Given the description of an element on the screen output the (x, y) to click on. 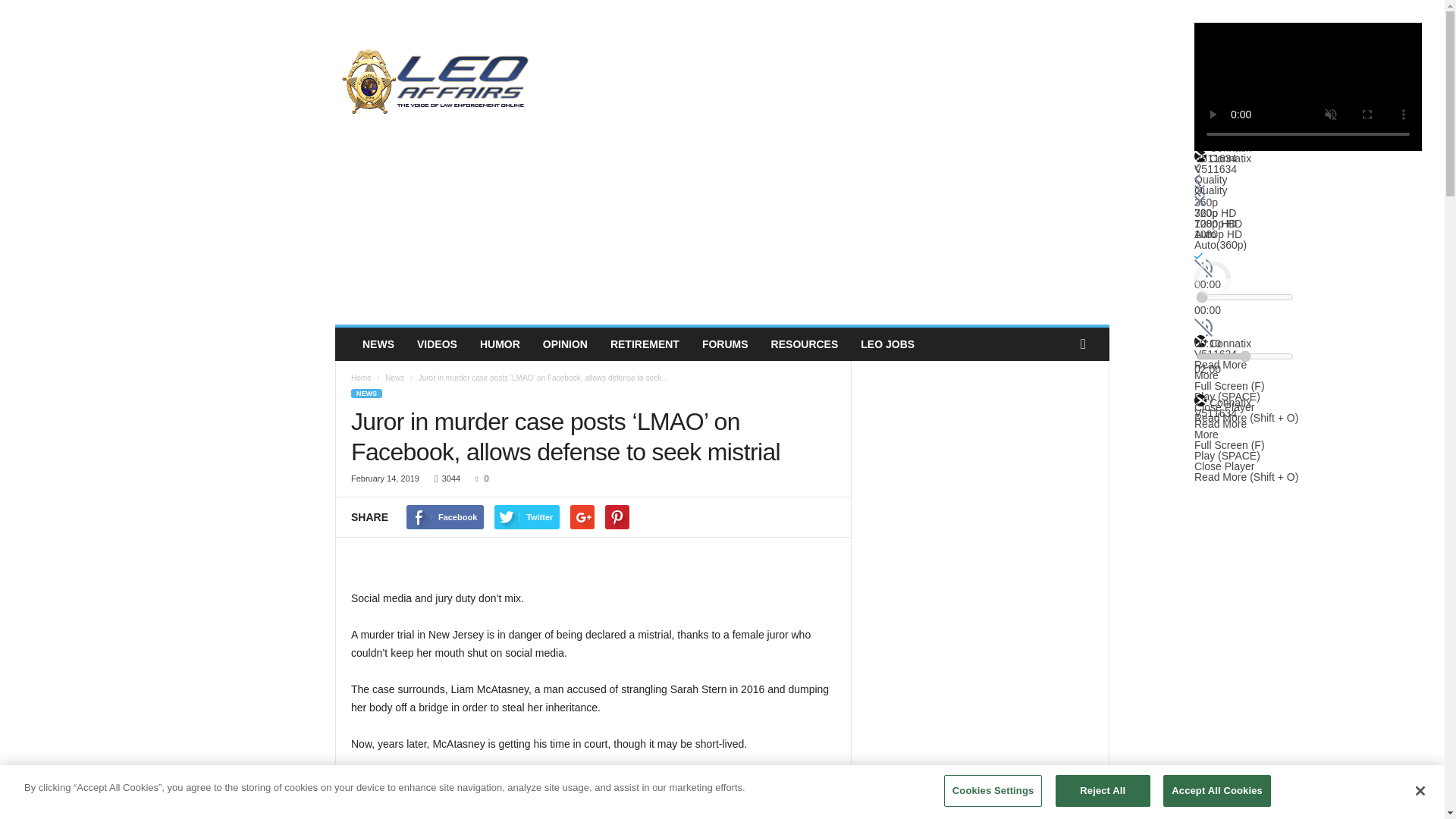
NEWS (378, 344)
FORUMS (725, 344)
RETIREMENT (644, 344)
HUMOR (499, 344)
RESOURCES (805, 344)
OPINION (564, 344)
View all posts in News (394, 377)
LeoAffairs (437, 80)
VIDEOS (437, 344)
